Given the description of an element on the screen output the (x, y) to click on. 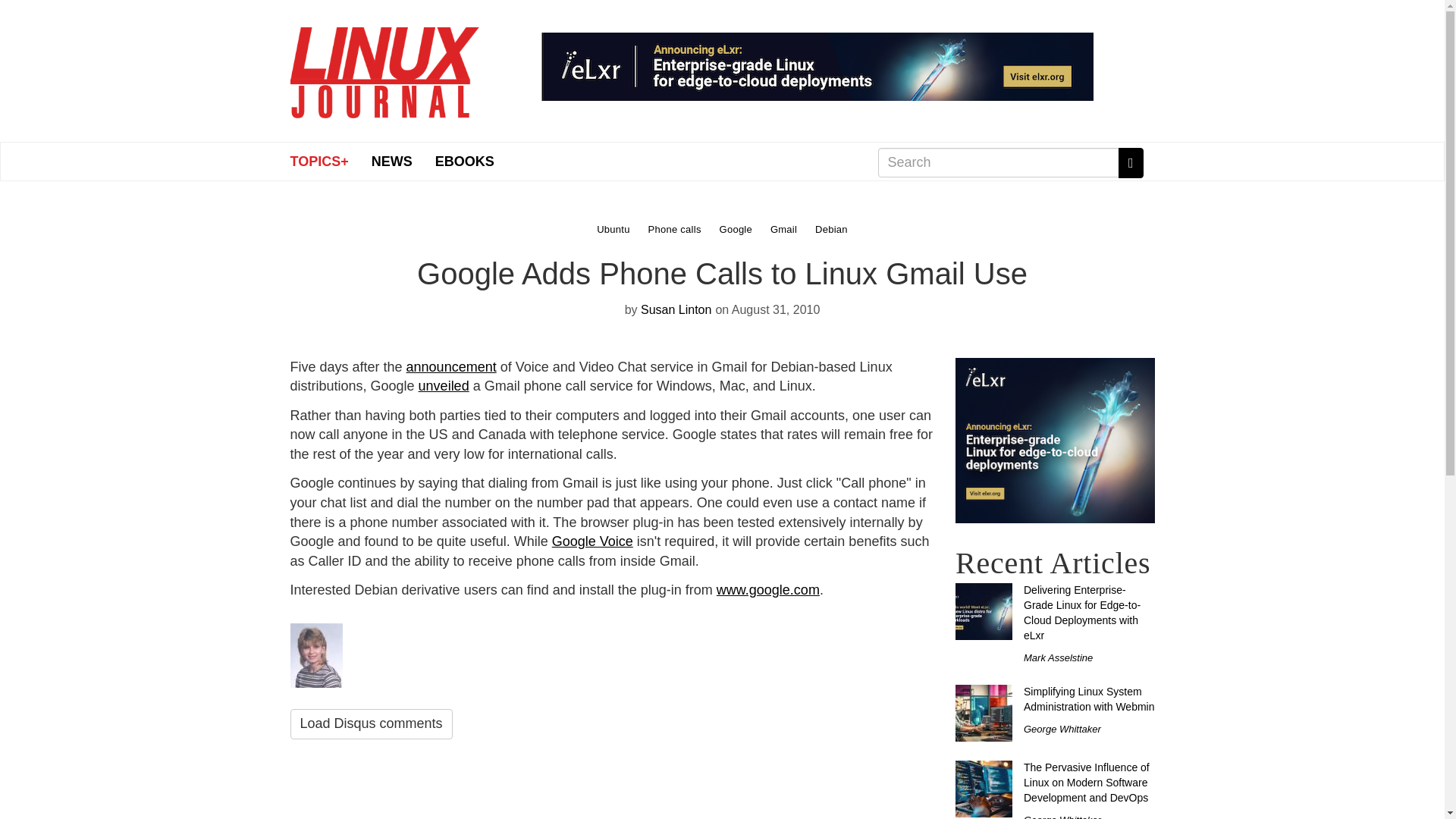
Gmail (785, 228)
Home (384, 66)
Load Disqus comments (370, 724)
Susan Linton (675, 309)
www.google.com (767, 589)
Debian (832, 228)
EBOOKS (464, 160)
Mark Asselstine (1058, 657)
Google (736, 228)
NEWS (391, 160)
View user profile. (675, 309)
announcement (451, 366)
unveiled (443, 385)
